Given the description of an element on the screen output the (x, y) to click on. 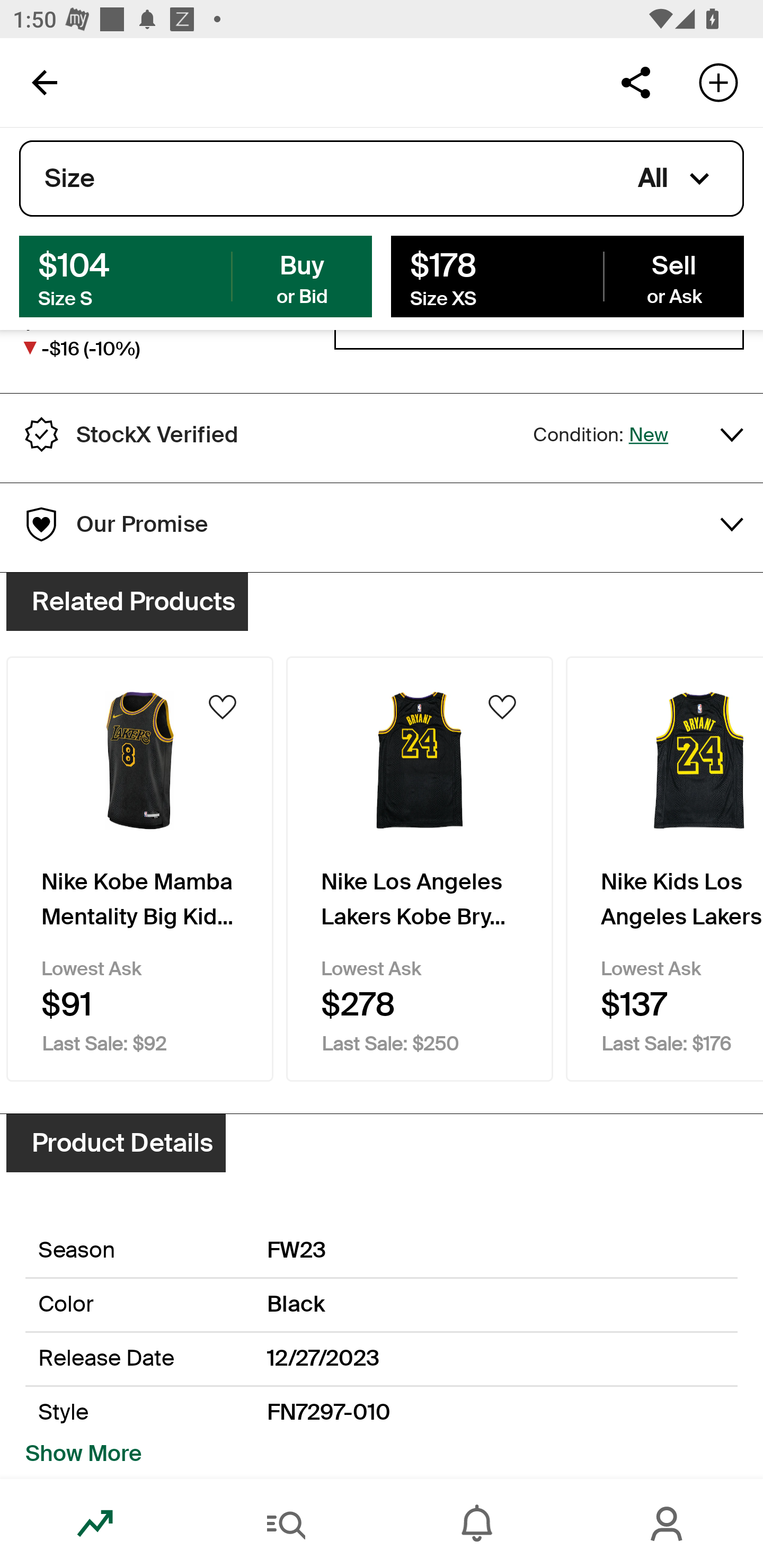
Share (635, 81)
Add (718, 81)
Size All (381, 178)
$104 Buy Size S or Bid (195, 275)
$178 Sell Size XS or Ask (566, 275)
View Market Data (538, 344)
Show More (83, 1453)
Search (285, 1523)
Inbox (476, 1523)
Account (667, 1523)
